Given the description of an element on the screen output the (x, y) to click on. 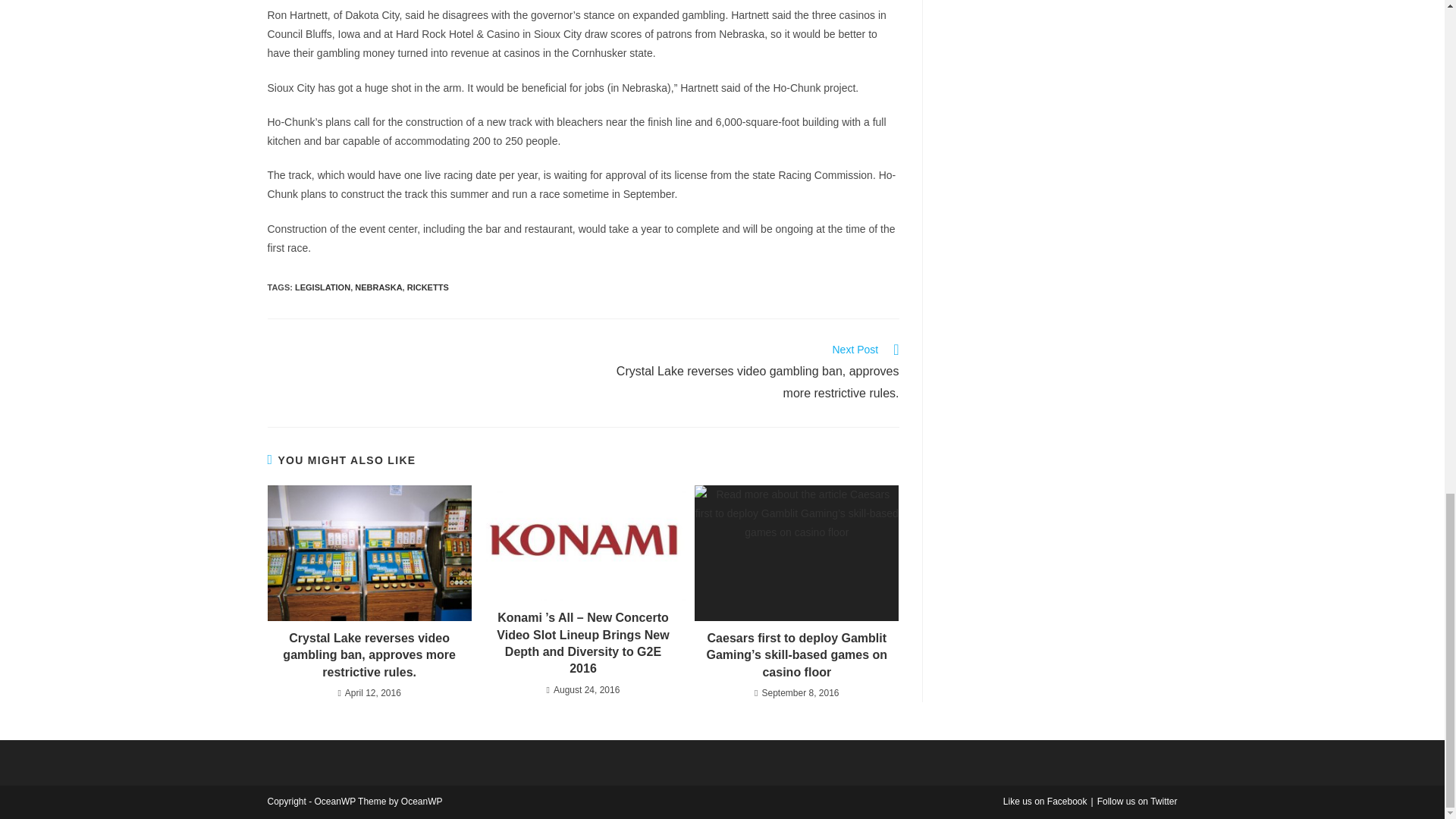
RICKETTS (427, 286)
NEBRASKA (378, 286)
LEGISLATION (322, 286)
